Given the description of an element on the screen output the (x, y) to click on. 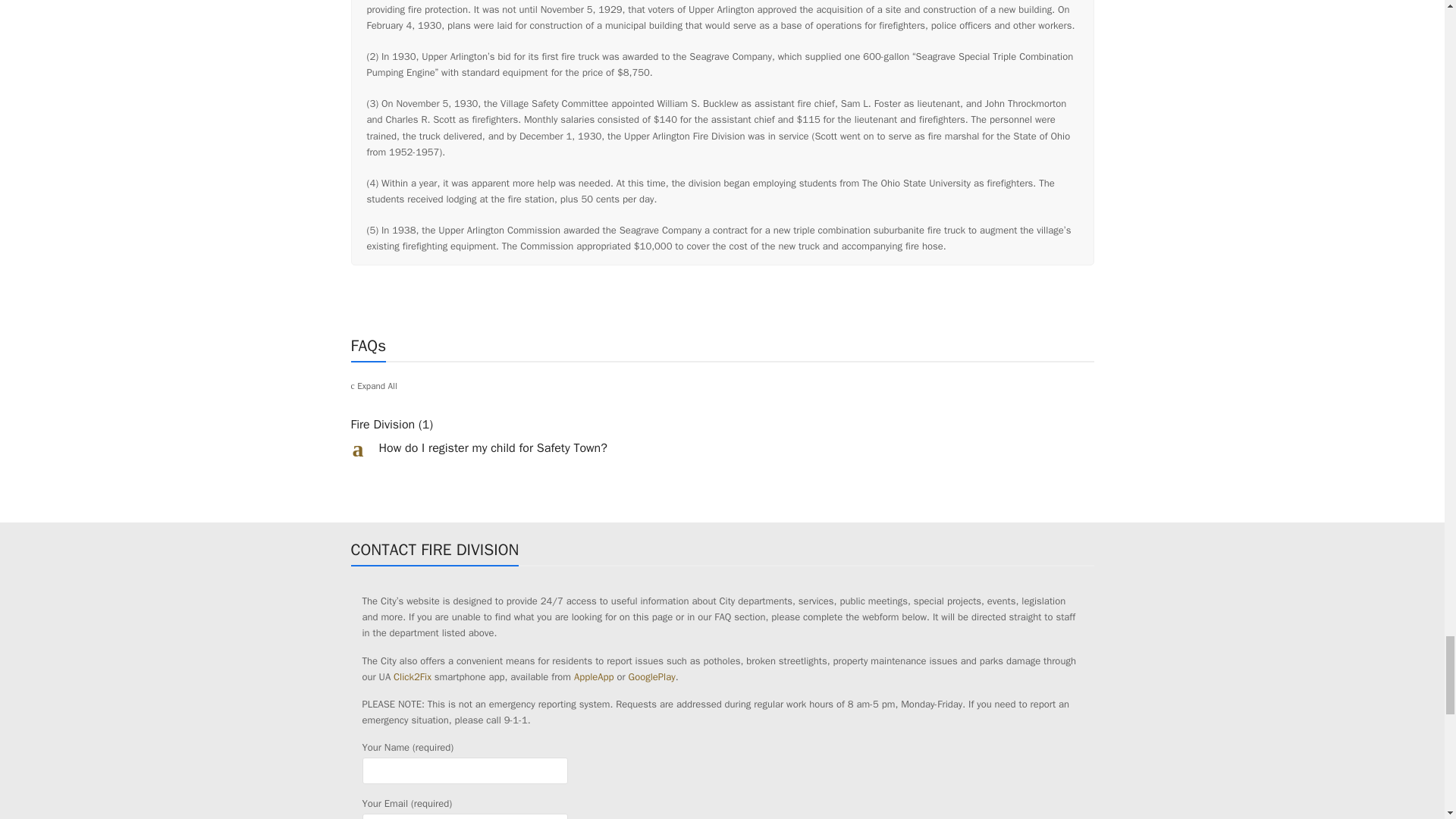
Click here to open Fire Division (721, 424)
